Given the description of an element on the screen output the (x, y) to click on. 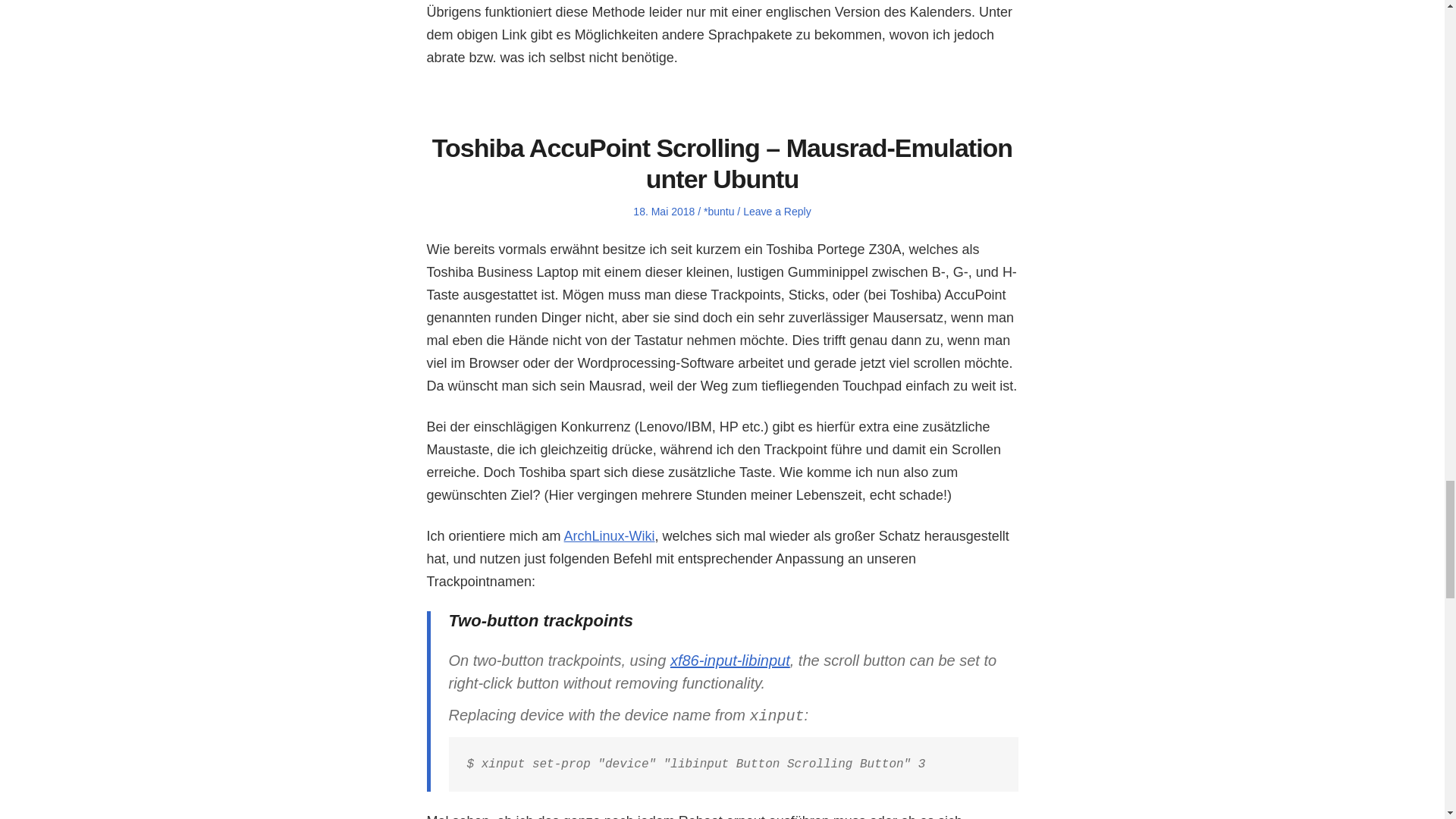
Leave a Reply (776, 211)
xf86-input-libinput (729, 660)
ArchLinux-Wiki (609, 535)
18. Mai 2018 (663, 211)
